Given the description of an element on the screen output the (x, y) to click on. 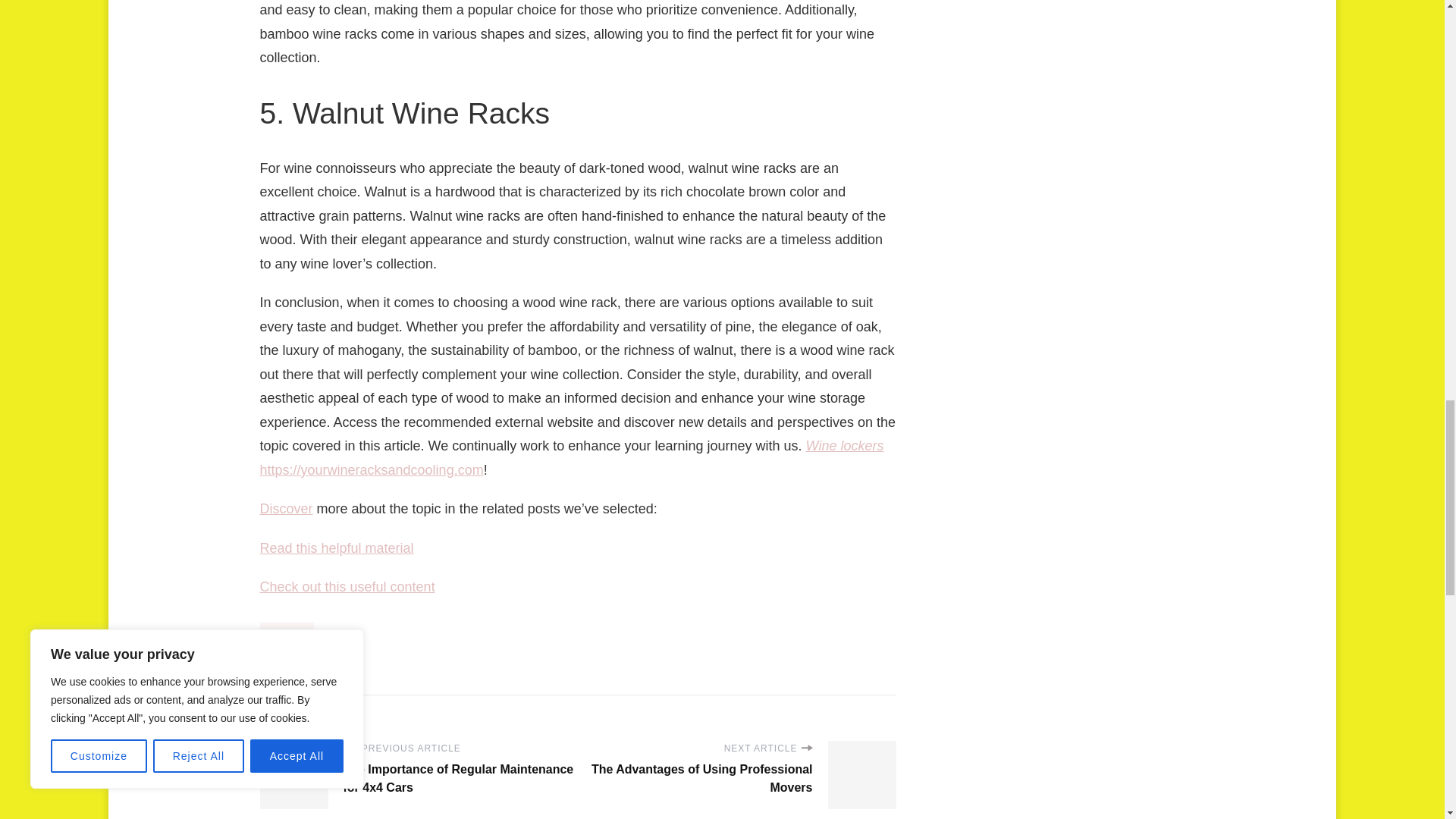
Read this helpful material (336, 548)
Discover (286, 508)
Check out this useful content (346, 586)
IDEAS (286, 633)
